Given the description of an element on the screen output the (x, y) to click on. 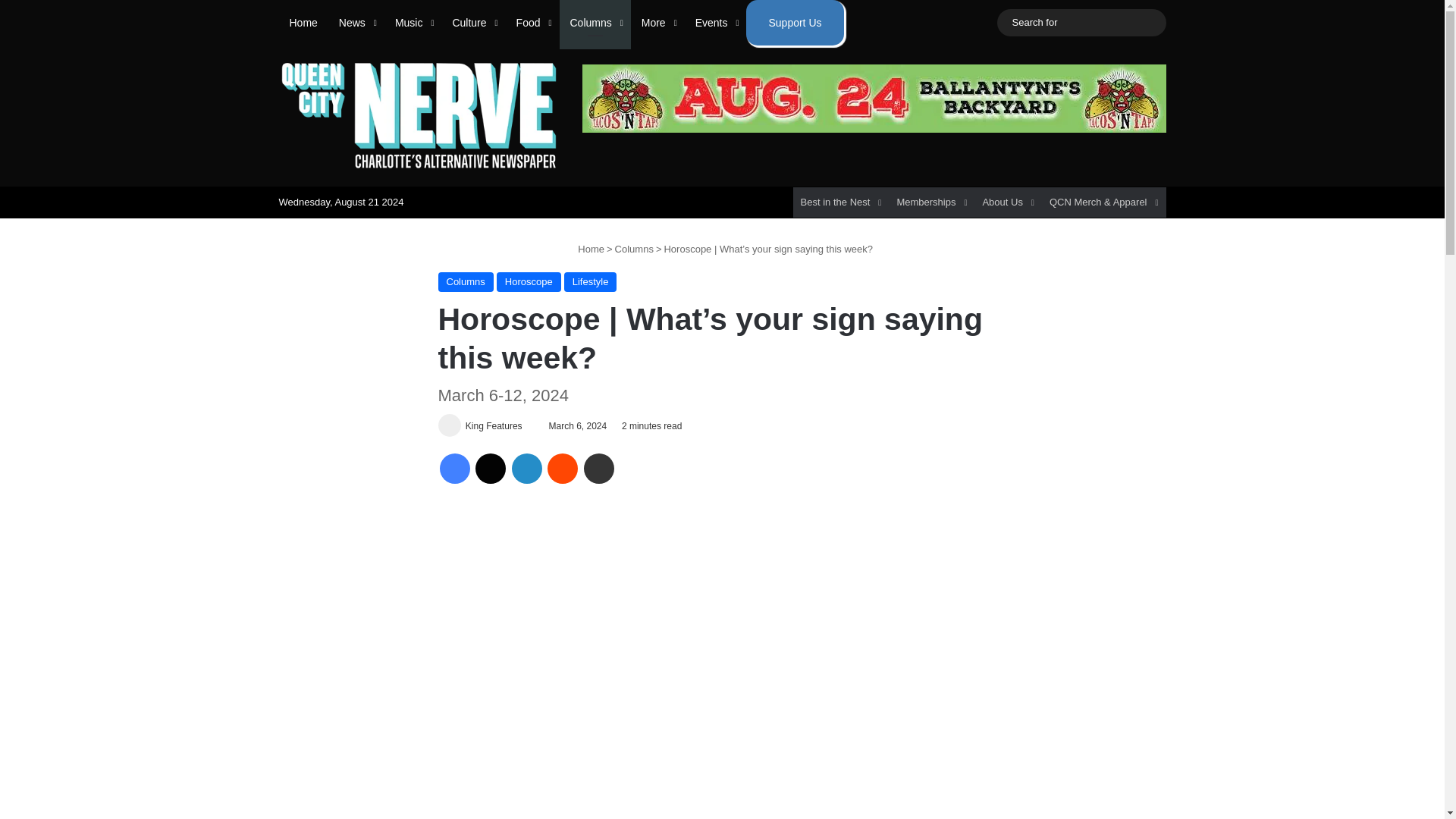
Music (413, 22)
Home (304, 22)
Reddit (562, 468)
LinkedIn (526, 468)
Share via Email (598, 468)
News (356, 22)
Food (532, 22)
Facebook (454, 468)
Search for (1080, 22)
Columns (594, 22)
